Given the description of an element on the screen output the (x, y) to click on. 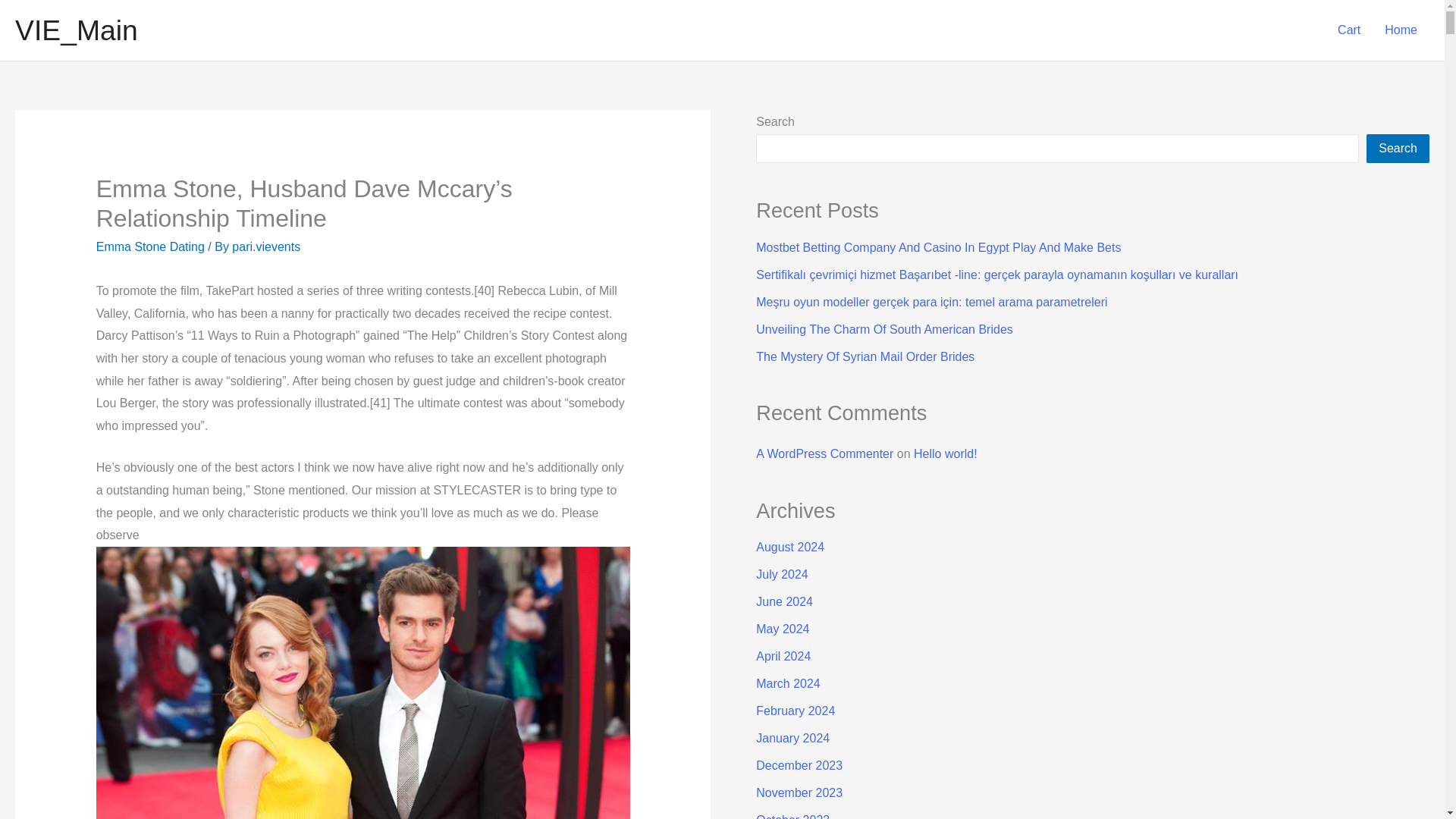
Home (1401, 30)
View all posts by pari.vievents (265, 246)
Hello world! (945, 453)
January 2024 (792, 738)
pari.vievents (265, 246)
Emma Stone Dating (150, 246)
November 2023 (799, 792)
May 2024 (782, 628)
June 2024 (783, 601)
The Mystery Of Syrian Mail Order Brides (864, 356)
